Given the description of an element on the screen output the (x, y) to click on. 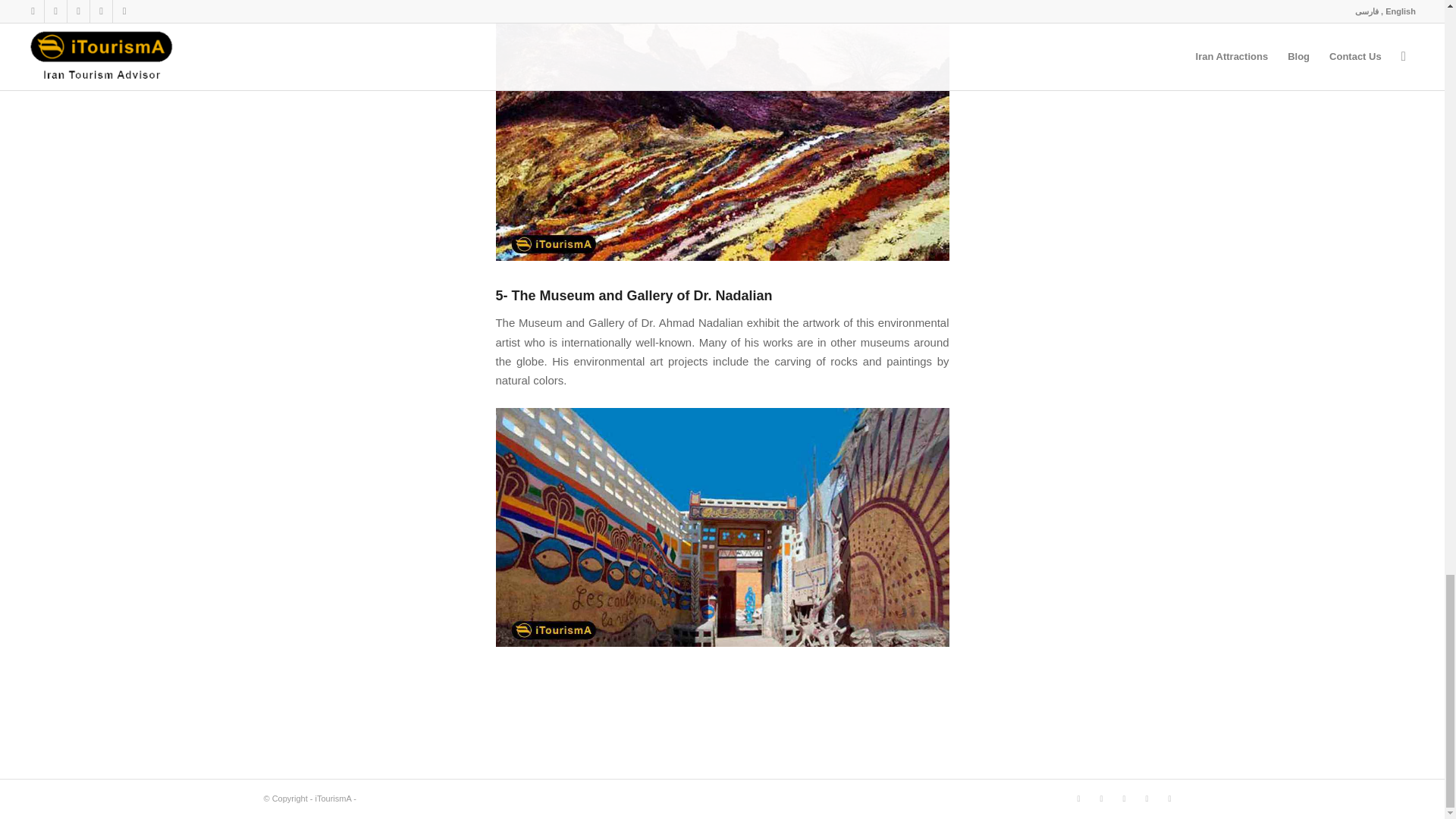
Twitter (1146, 798)
Instagram (1078, 798)
Pinterest (1101, 798)
Facebook (1124, 798)
LinkedIn (1169, 798)
